Given the description of an element on the screen output the (x, y) to click on. 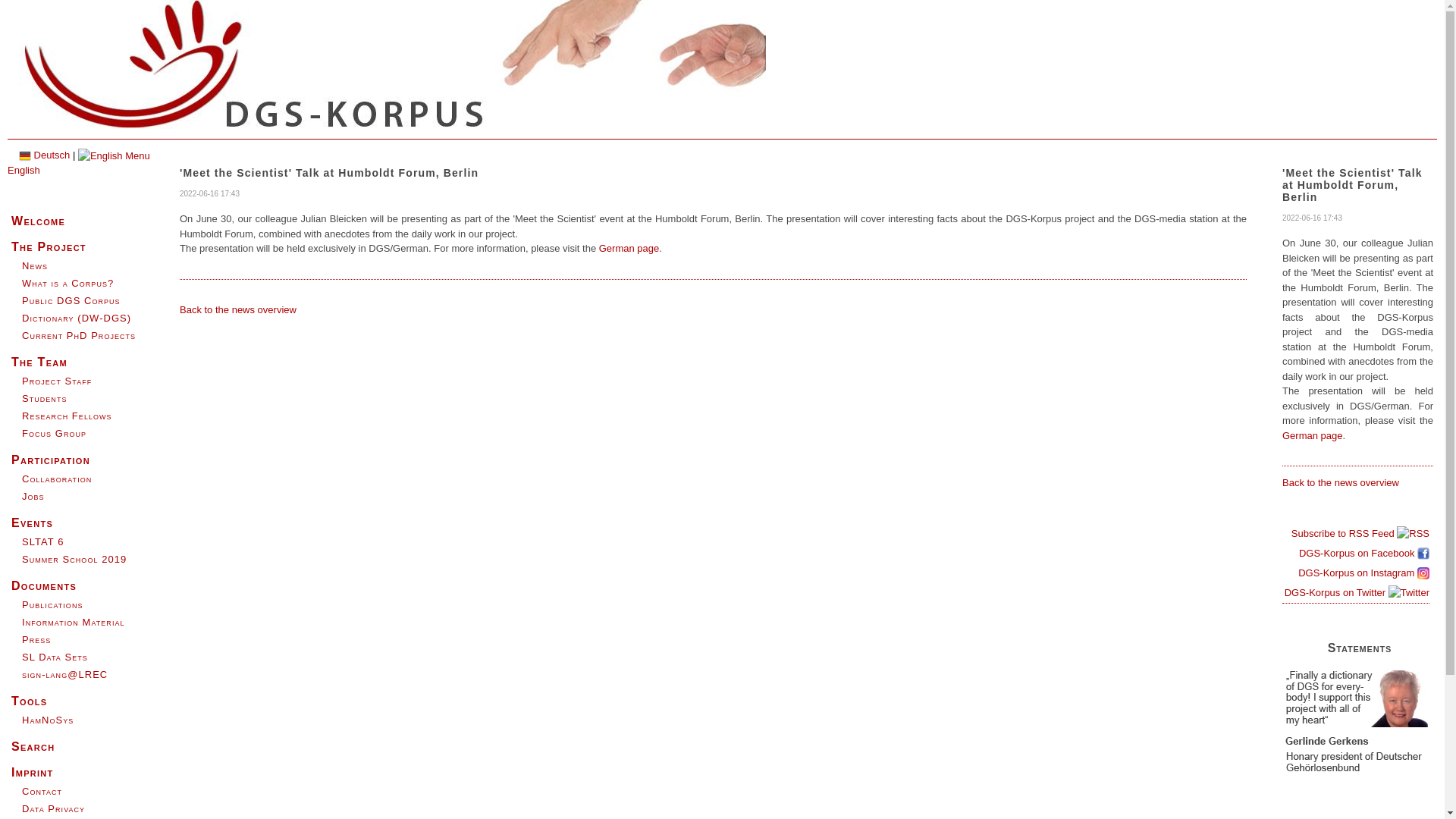
What is a Corpus? (67, 283)
Data Privacy (52, 808)
Participation (50, 459)
Jobs (33, 496)
News (34, 265)
Events (31, 522)
SLTAT 6 (42, 541)
Information Material (73, 622)
Back to the news overview (238, 308)
English (78, 162)
Back to the news overview (1340, 482)
Welcome (38, 220)
Summer School 2019 (73, 559)
Publications (51, 604)
Project Staff (56, 380)
